Given the description of an element on the screen output the (x, y) to click on. 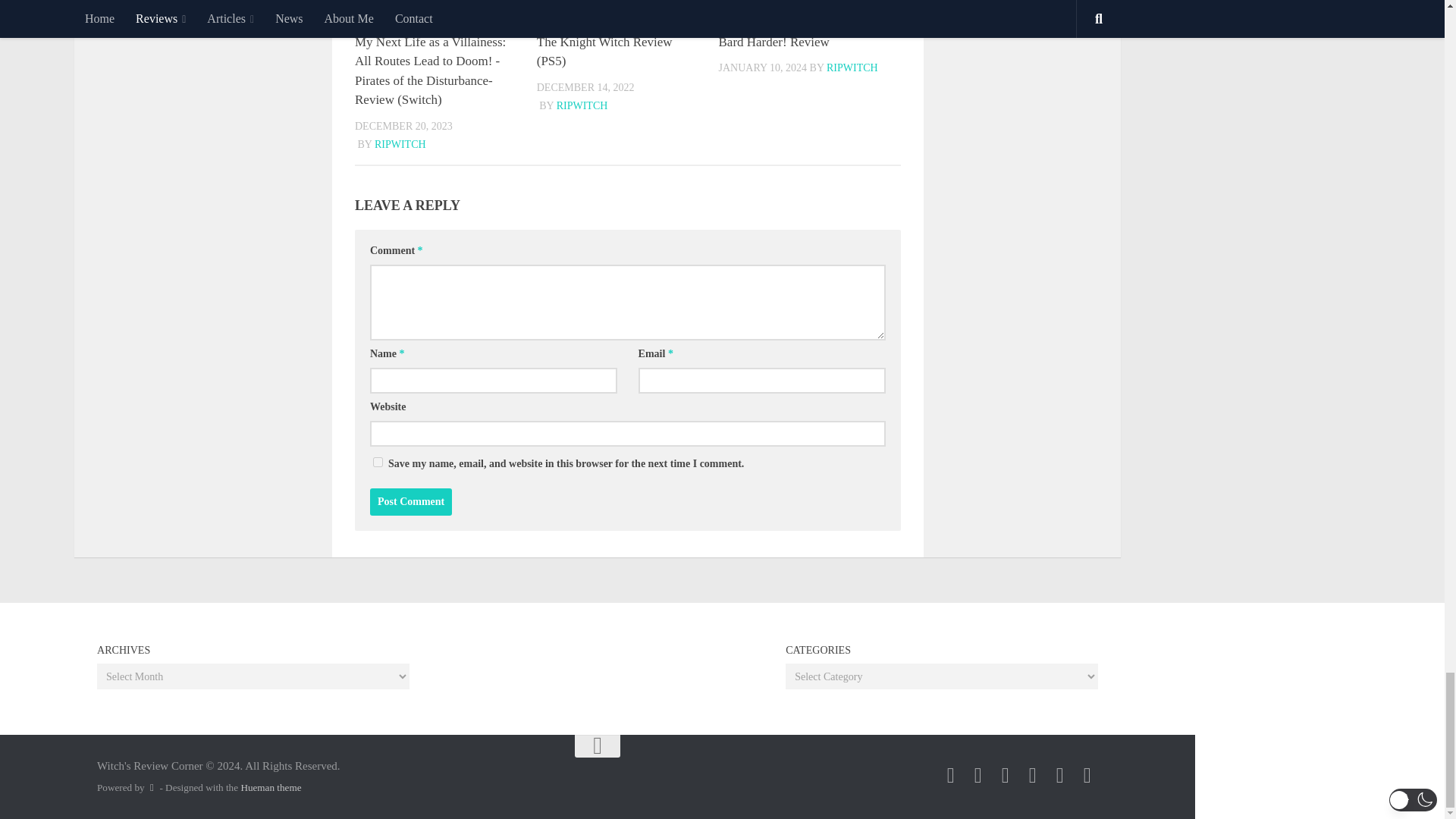
Posts by RipWitch (400, 143)
Posts by RipWitch (582, 105)
Post Comment (410, 501)
Posts by RipWitch (852, 67)
yes (377, 461)
